Given the description of an element on the screen output the (x, y) to click on. 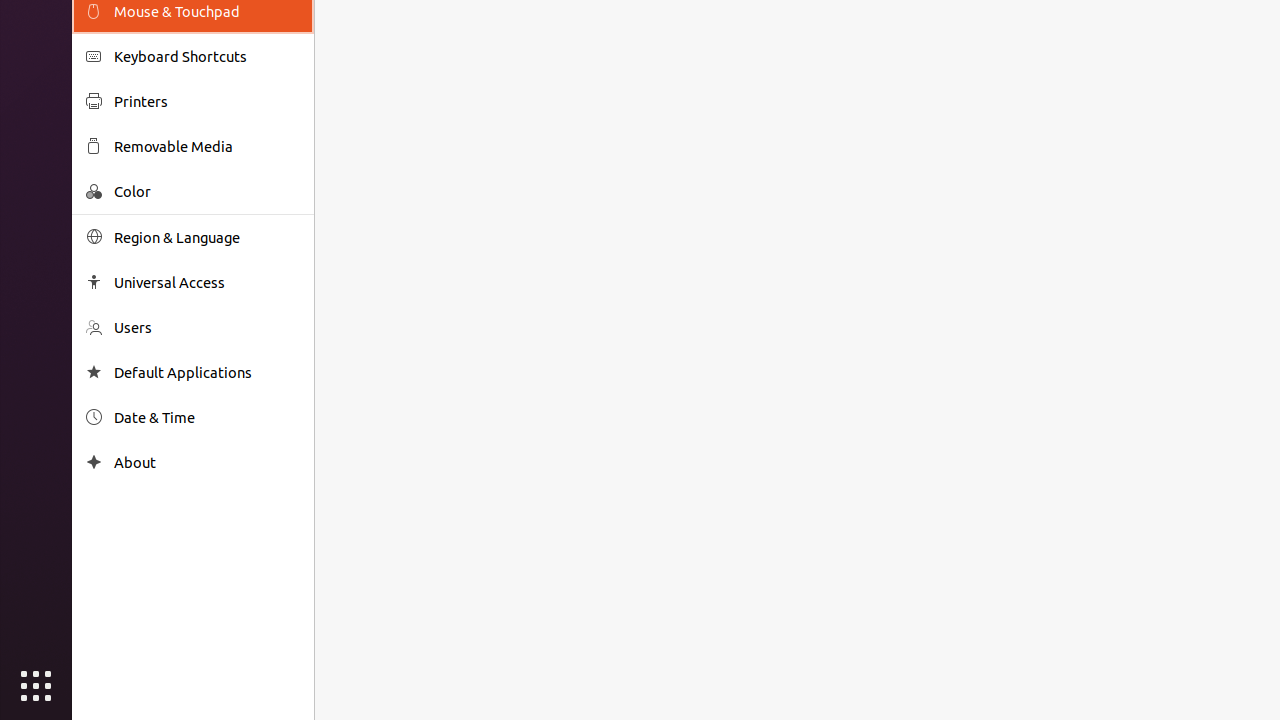
Default Applications Element type: label (207, 372)
Removable Media Element type: label (207, 146)
Printers Element type: label (207, 101)
Date & Time Element type: label (207, 417)
Keyboard Shortcuts Element type: label (207, 56)
